Given the description of an element on the screen output the (x, y) to click on. 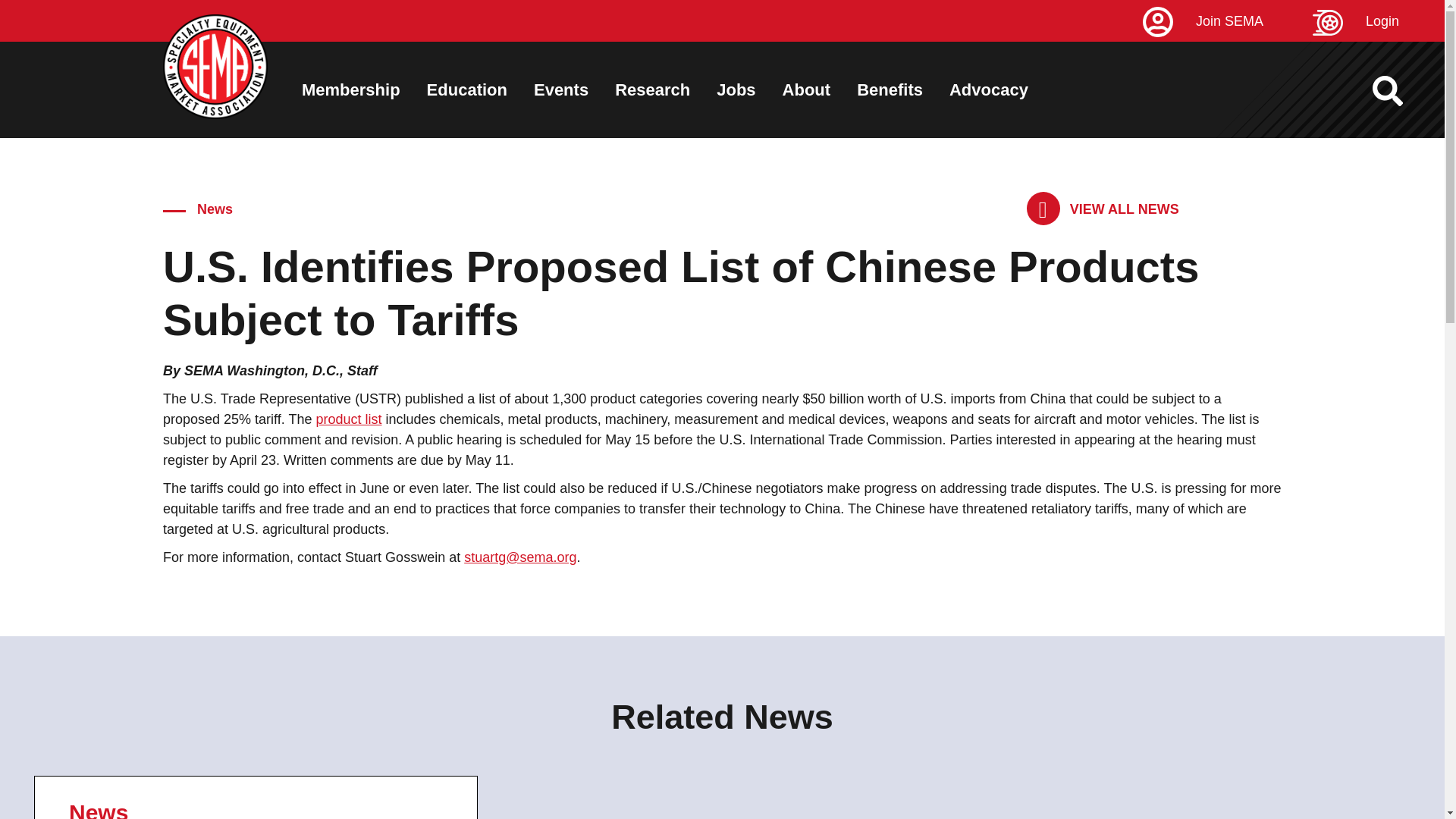
Benefits (889, 89)
Login (1378, 20)
Advocacy (988, 89)
eNews archive (1102, 209)
Join SEMA (1225, 20)
Membership (350, 89)
Search Sema.org (1401, 91)
Research (652, 89)
Education (466, 89)
